Given the description of an element on the screen output the (x, y) to click on. 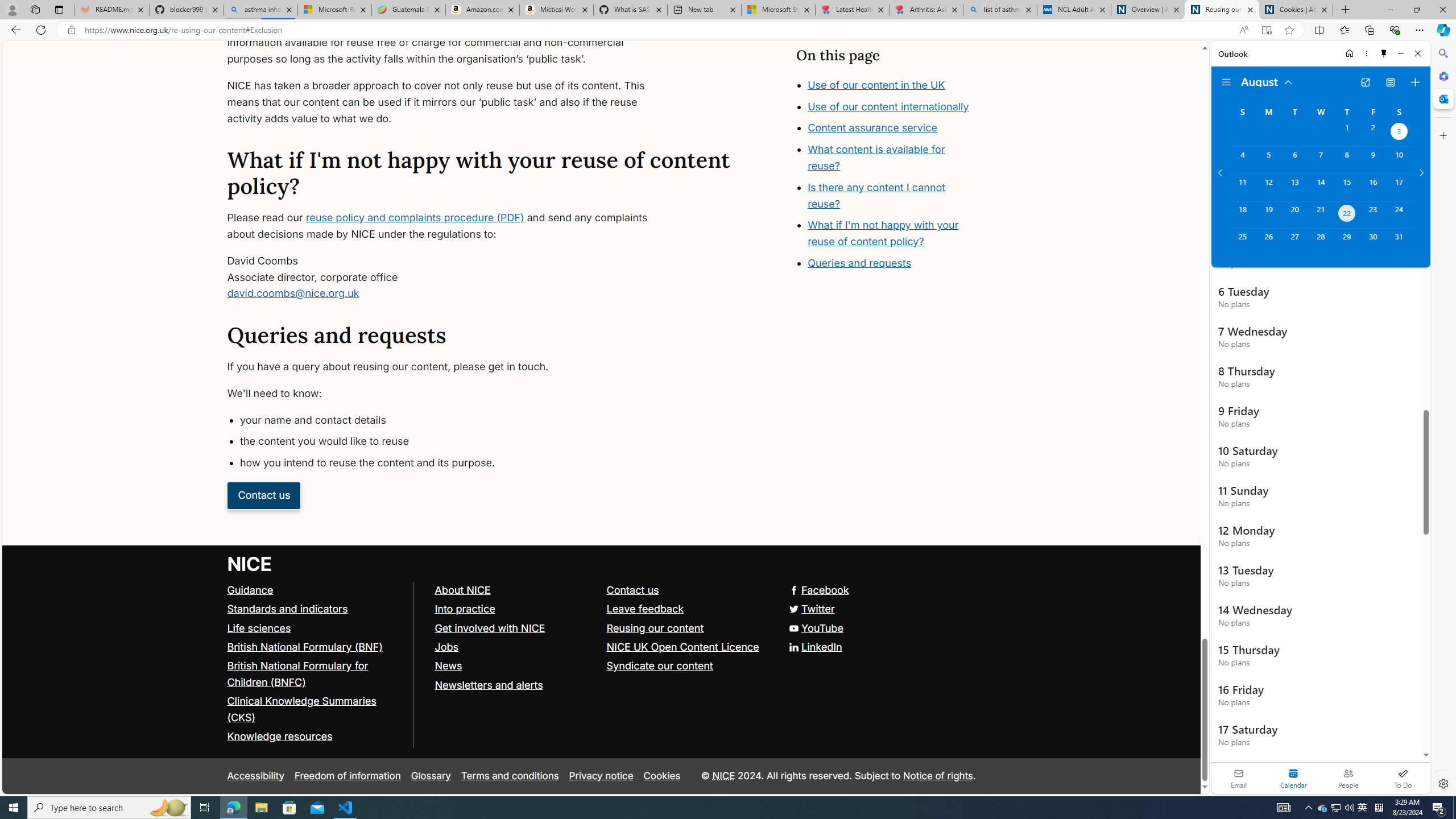
Tuesday, August 27, 2024.  (1294, 241)
Is there any content I cannot reuse? (896, 228)
Saturday, August 24, 2024.  (1399, 214)
Monday, August 5, 2024.  (1268, 159)
Arthritis: Ask Health Professionals (925, 9)
NCL Adult Asthma Inhaler Choice Guideline (1073, 9)
Twitter (601, 609)
Monday, August 19, 2024.  (1268, 214)
Notice of rights (937, 775)
